Given the description of an element on the screen output the (x, y) to click on. 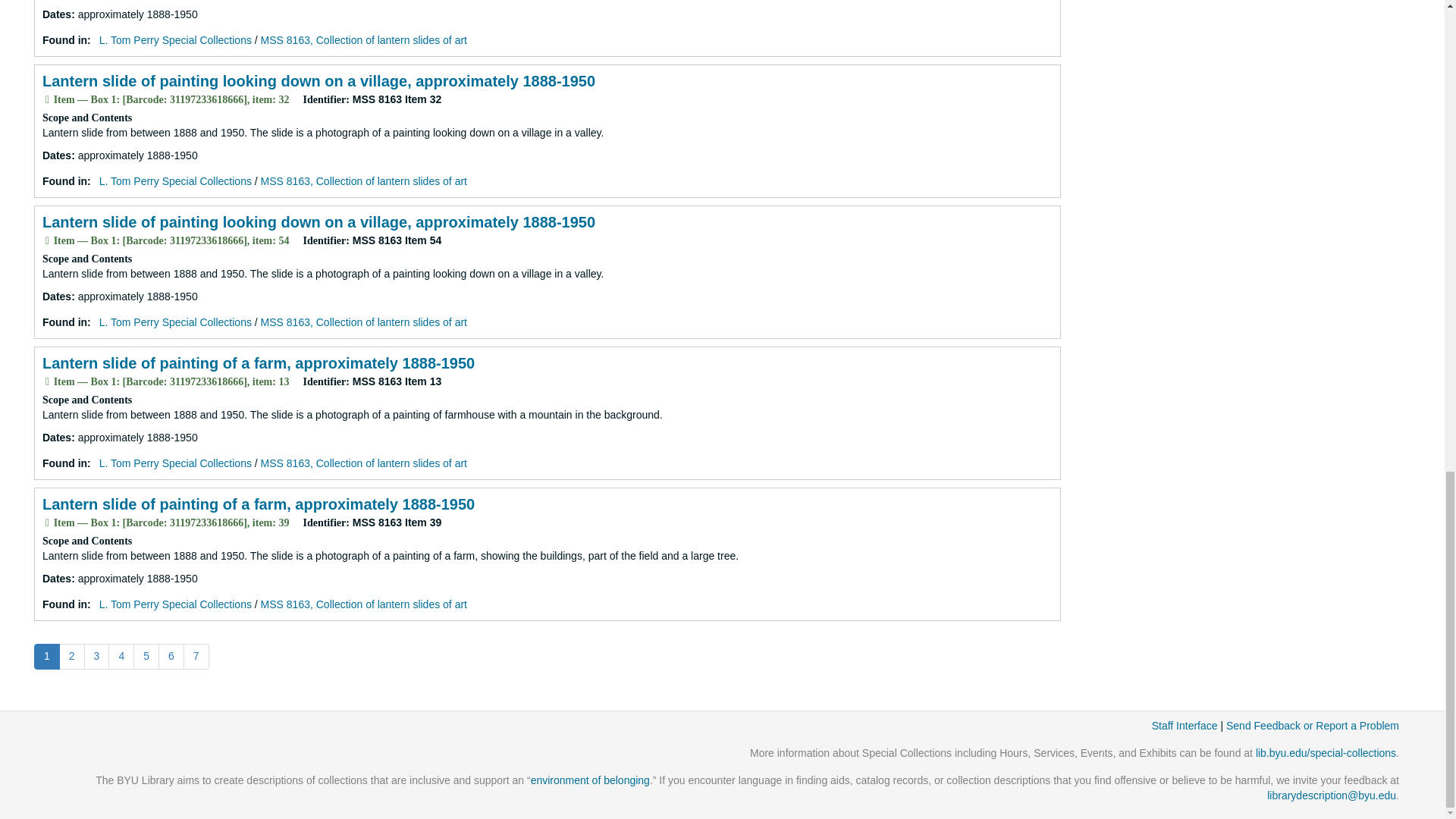
translation missing: en.dates (56, 578)
translation missing: en.dates (56, 296)
L. Tom Perry Special Collections (175, 181)
L. Tom Perry Special Collections (175, 39)
translation missing: en.dates (56, 155)
MSS 8163, Collection of lantern slides of art (363, 181)
translation missing: en.dates (56, 437)
MSS 8163, Collection of lantern slides of art (363, 39)
translation missing: en.dates (56, 14)
